Given the description of an element on the screen output the (x, y) to click on. 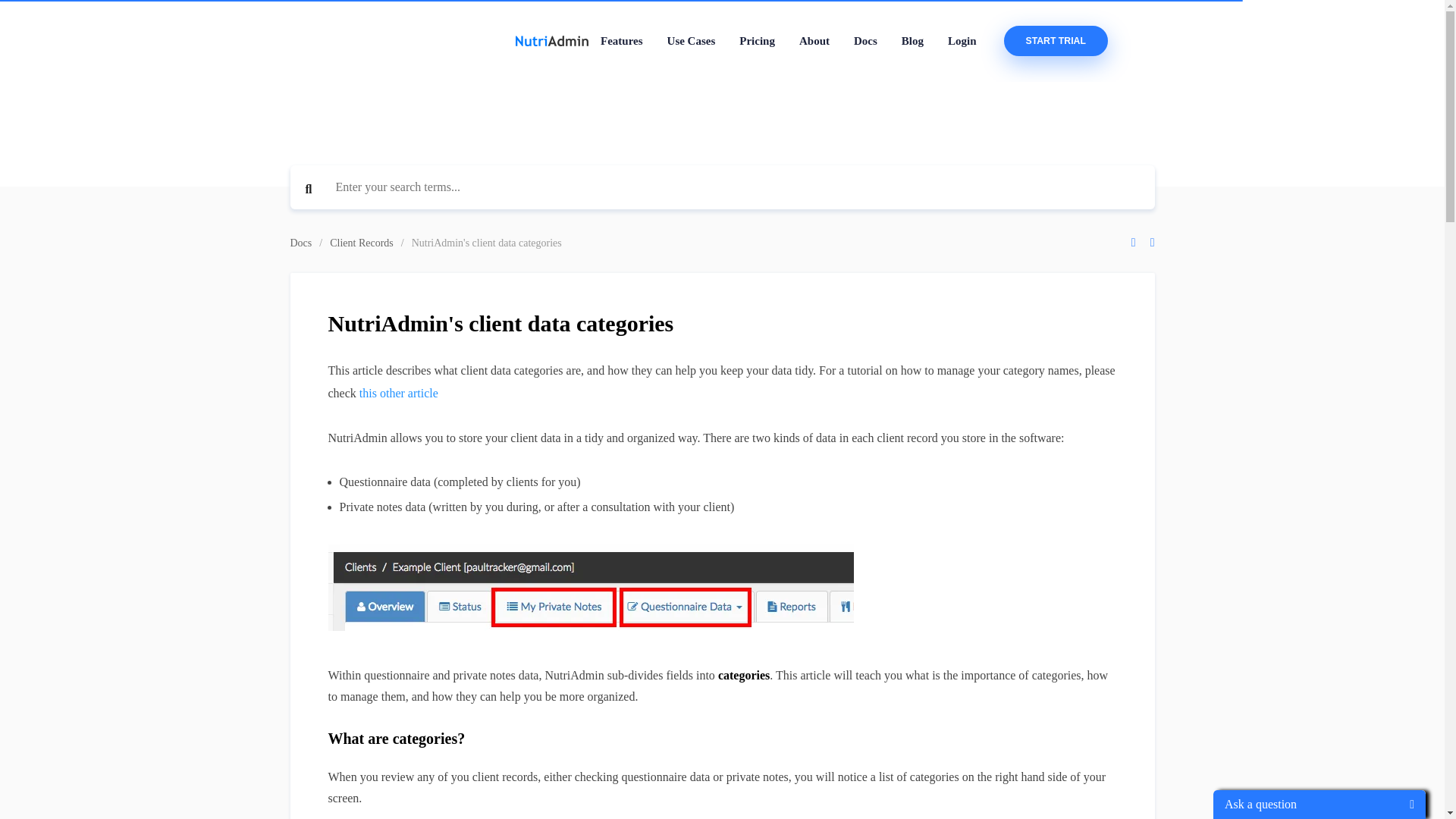
questionnaire and private notes data (590, 598)
Login (962, 40)
Blog (912, 40)
Client Records (361, 242)
Docs (300, 242)
Use Cases (691, 40)
Docs (865, 40)
Features (621, 40)
Pricing (756, 40)
About (814, 40)
